Given the description of an element on the screen output the (x, y) to click on. 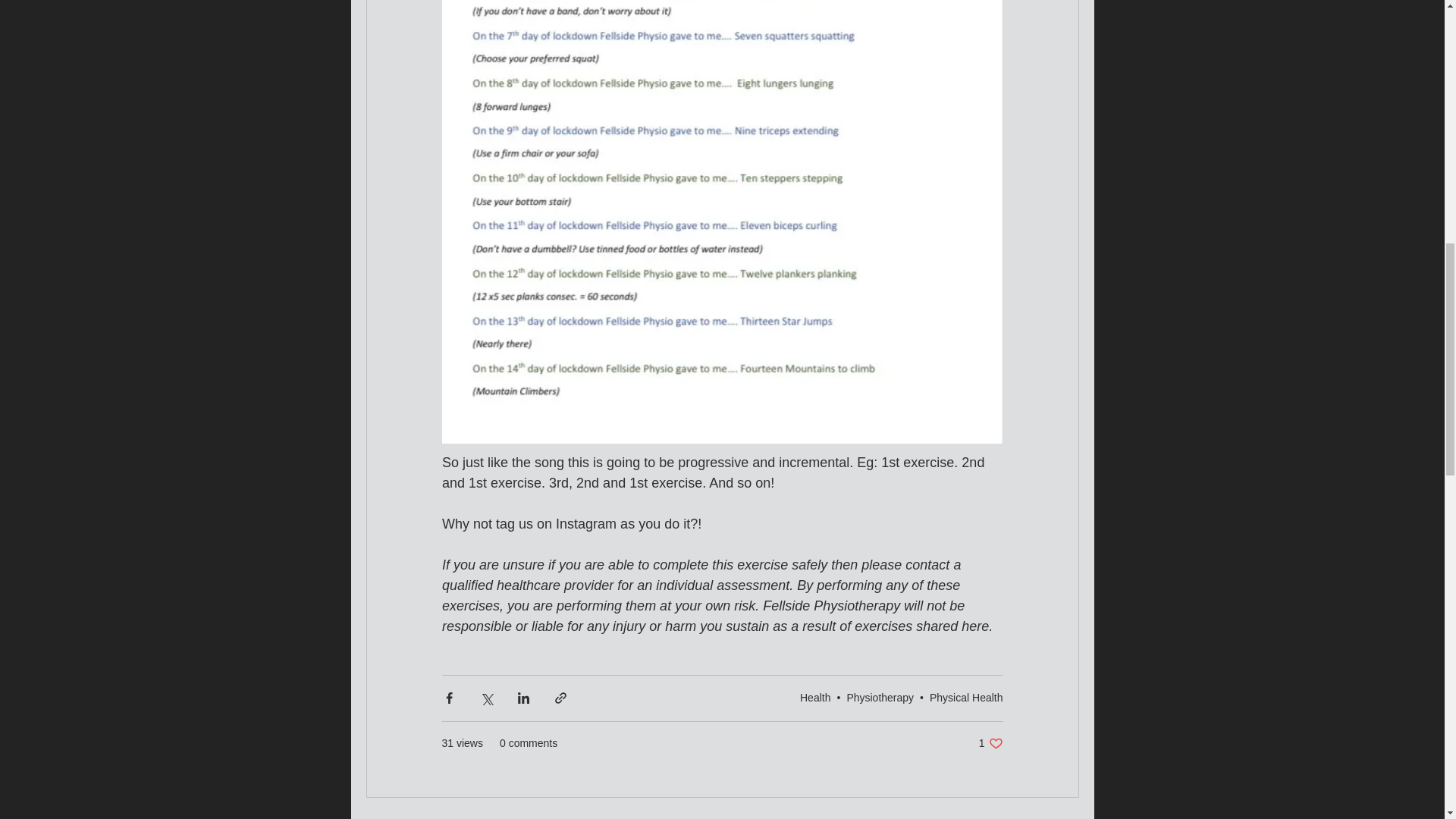
Physical Health (966, 697)
Health (990, 743)
Physiotherapy (814, 697)
See All (879, 697)
